Given the description of an element on the screen output the (x, y) to click on. 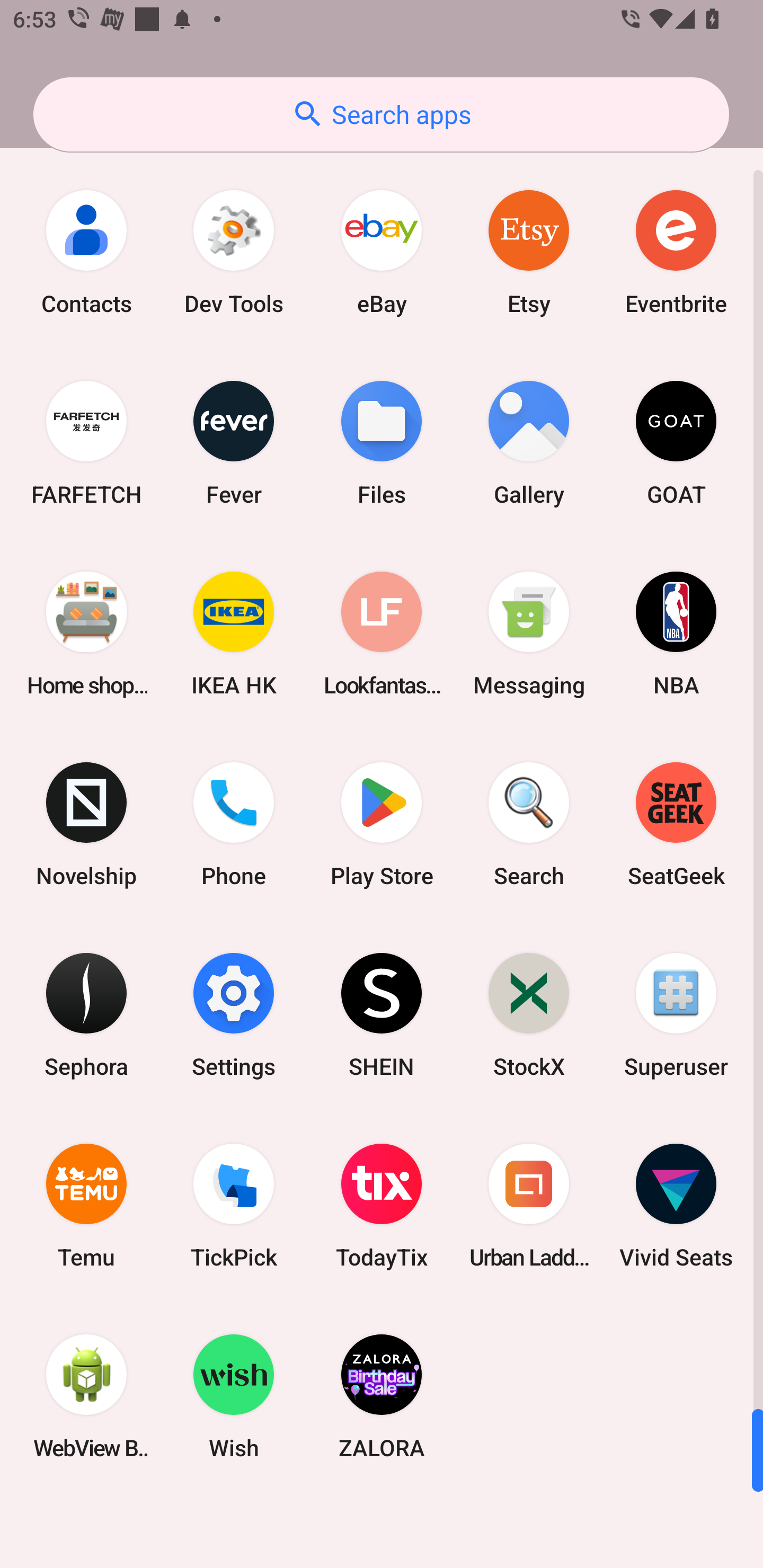
  Search apps (381, 114)
Contacts (86, 252)
Dev Tools (233, 252)
eBay (381, 252)
Etsy (528, 252)
Eventbrite (676, 252)
FARFETCH (86, 442)
Fever (233, 442)
Files (381, 442)
Gallery (528, 442)
GOAT (676, 442)
Home shopping (86, 633)
IKEA HK (233, 633)
Lookfantastic (381, 633)
Messaging (528, 633)
NBA (676, 633)
Novelship (86, 823)
Phone (233, 823)
Play Store (381, 823)
Search (528, 823)
SeatGeek (676, 823)
Sephora (86, 1014)
Settings (233, 1014)
SHEIN (381, 1014)
StockX (528, 1014)
Superuser (676, 1014)
Temu (86, 1205)
TickPick (233, 1205)
TodayTix (381, 1205)
Urban Ladder (528, 1205)
Vivid Seats (676, 1205)
WebView Browser Tester (86, 1396)
Wish (233, 1396)
ZALORA (381, 1396)
